Given the description of an element on the screen output the (x, y) to click on. 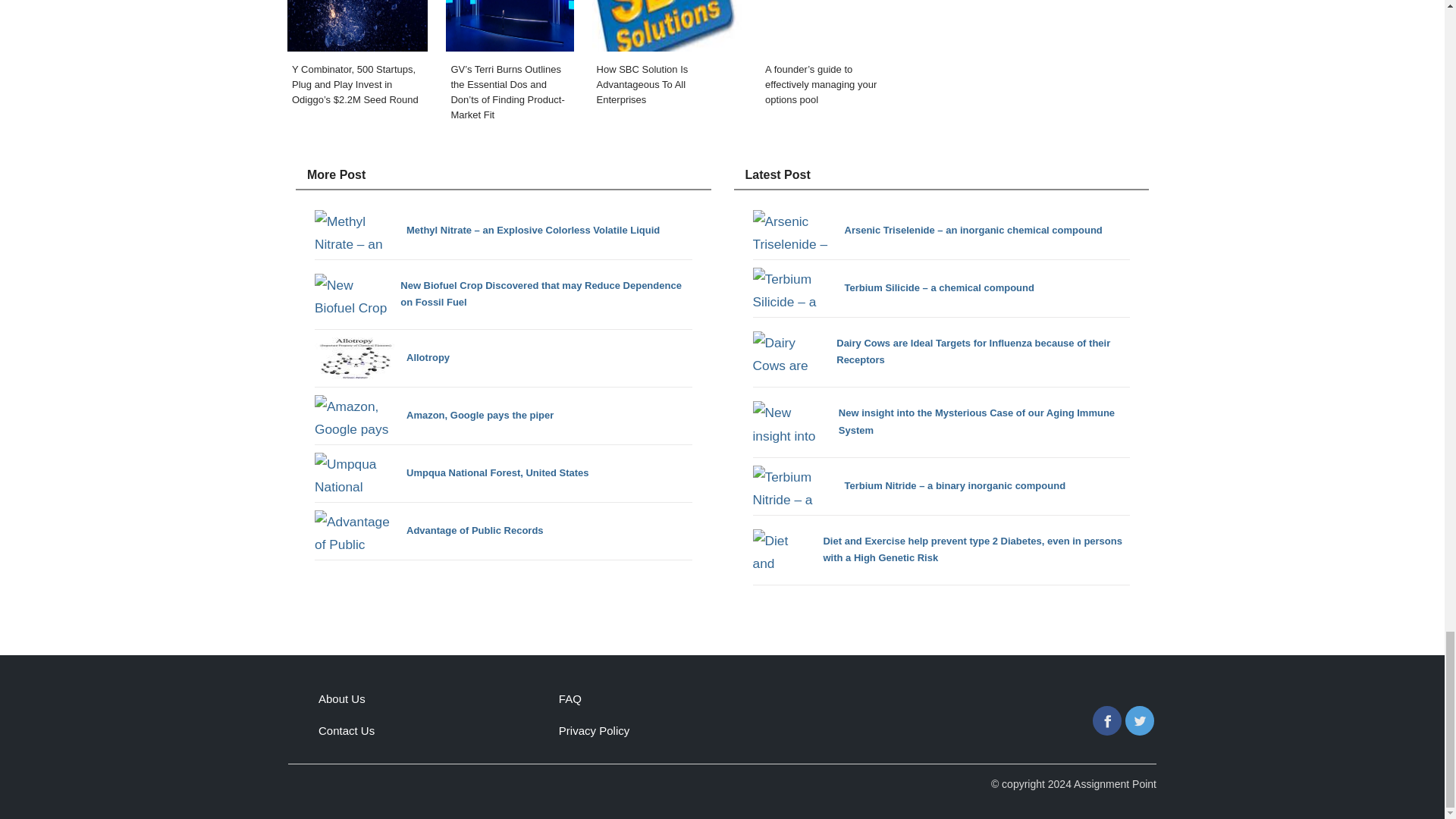
Advantage of Public Records (428, 531)
Umpqua National Forest, United States (451, 473)
How SBC Solution Is Advantageous To All Enterprises (667, 65)
Amazon, Google pays the piper (433, 415)
Allotropy (381, 358)
